Given the description of an element on the screen output the (x, y) to click on. 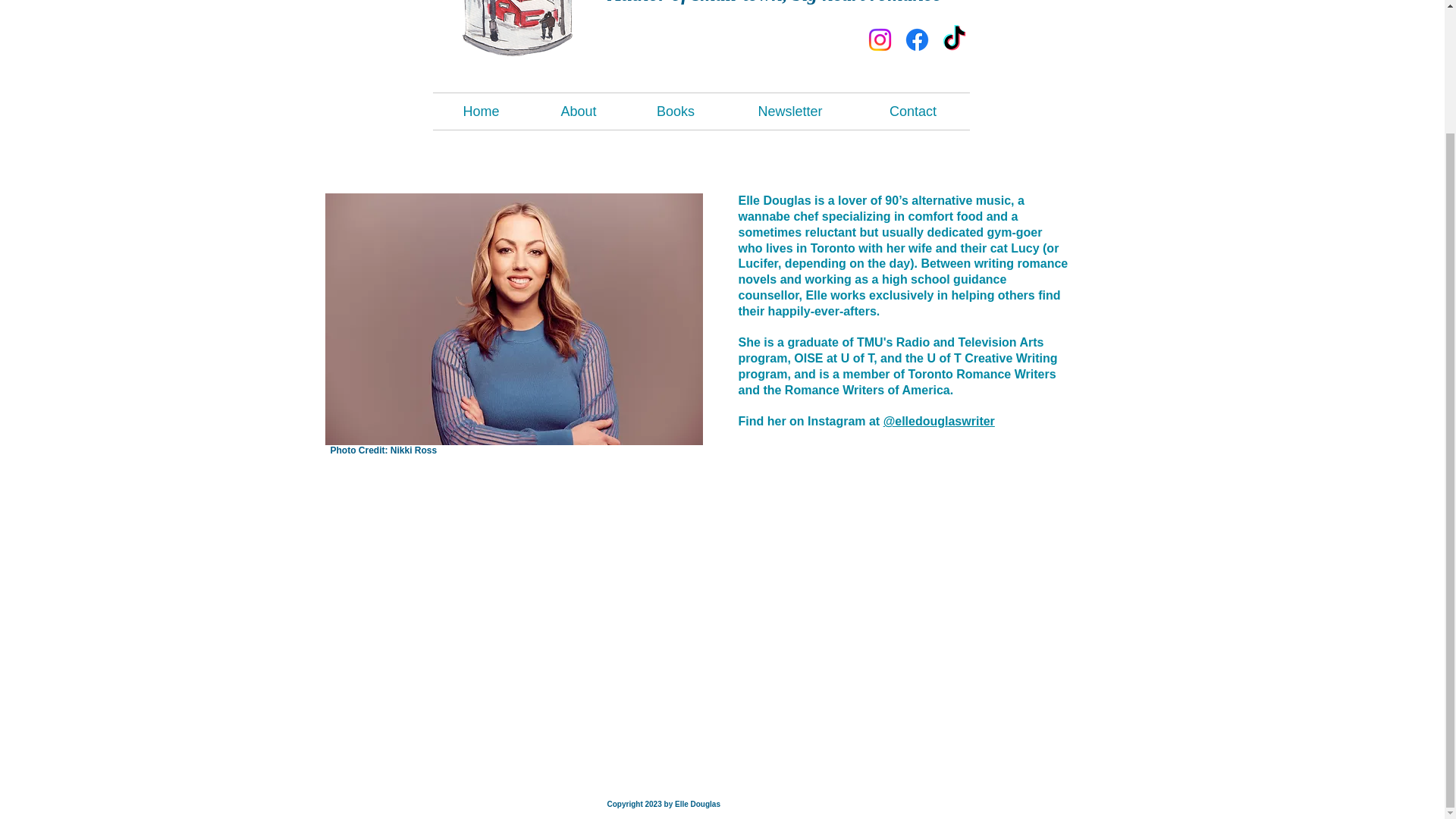
About (578, 111)
Newsletter (789, 111)
Home (480, 111)
Contact (913, 111)
Books (675, 111)
